Given the description of an element on the screen output the (x, y) to click on. 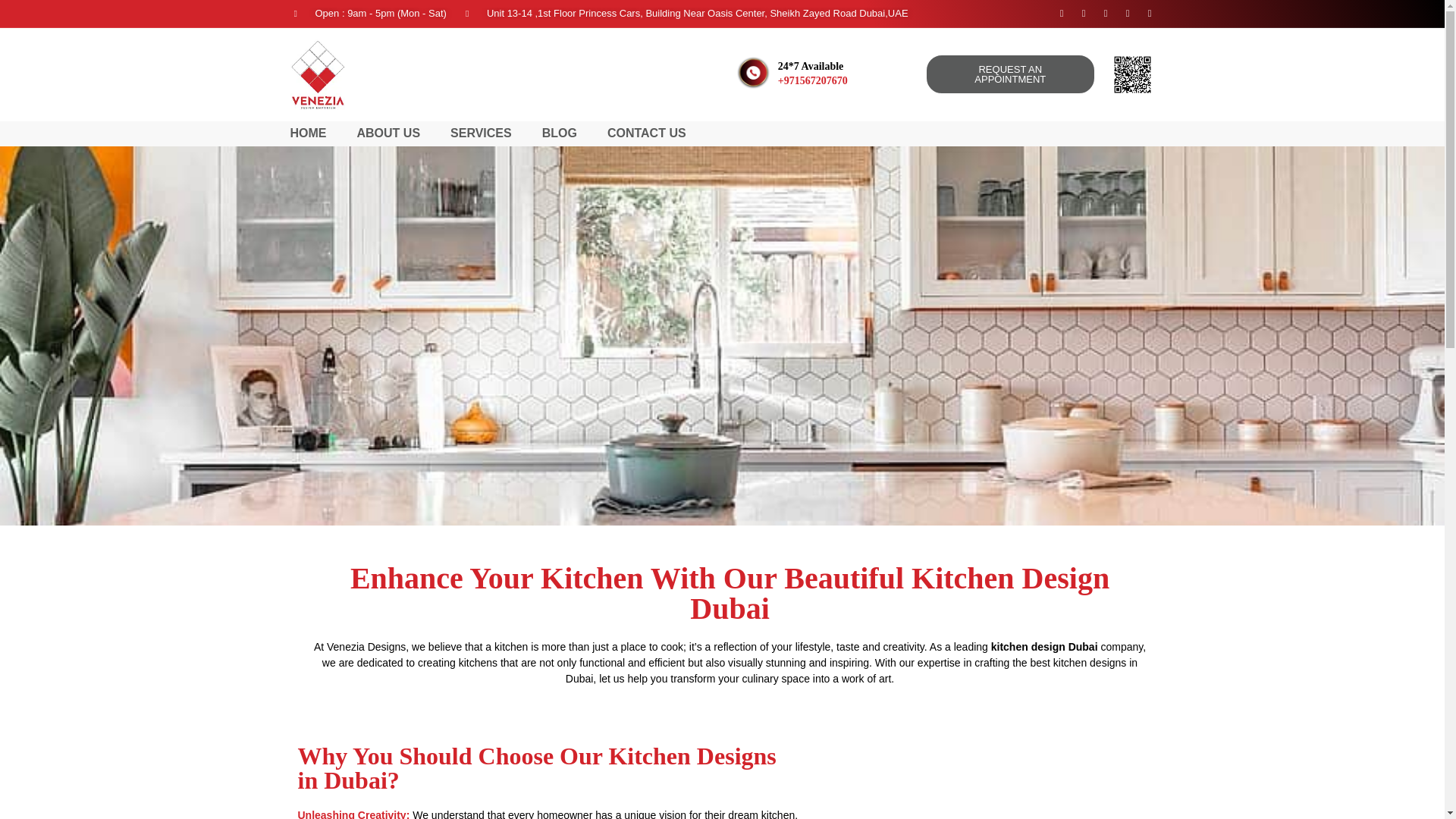
REQUEST AN APPOINTMENT (1010, 74)
HOME (307, 133)
BLOG (558, 133)
SERVICES (480, 133)
ABOUT US (388, 133)
CONTACT US (646, 133)
whatsappimg2 (1132, 73)
